Given the description of an element on the screen output the (x, y) to click on. 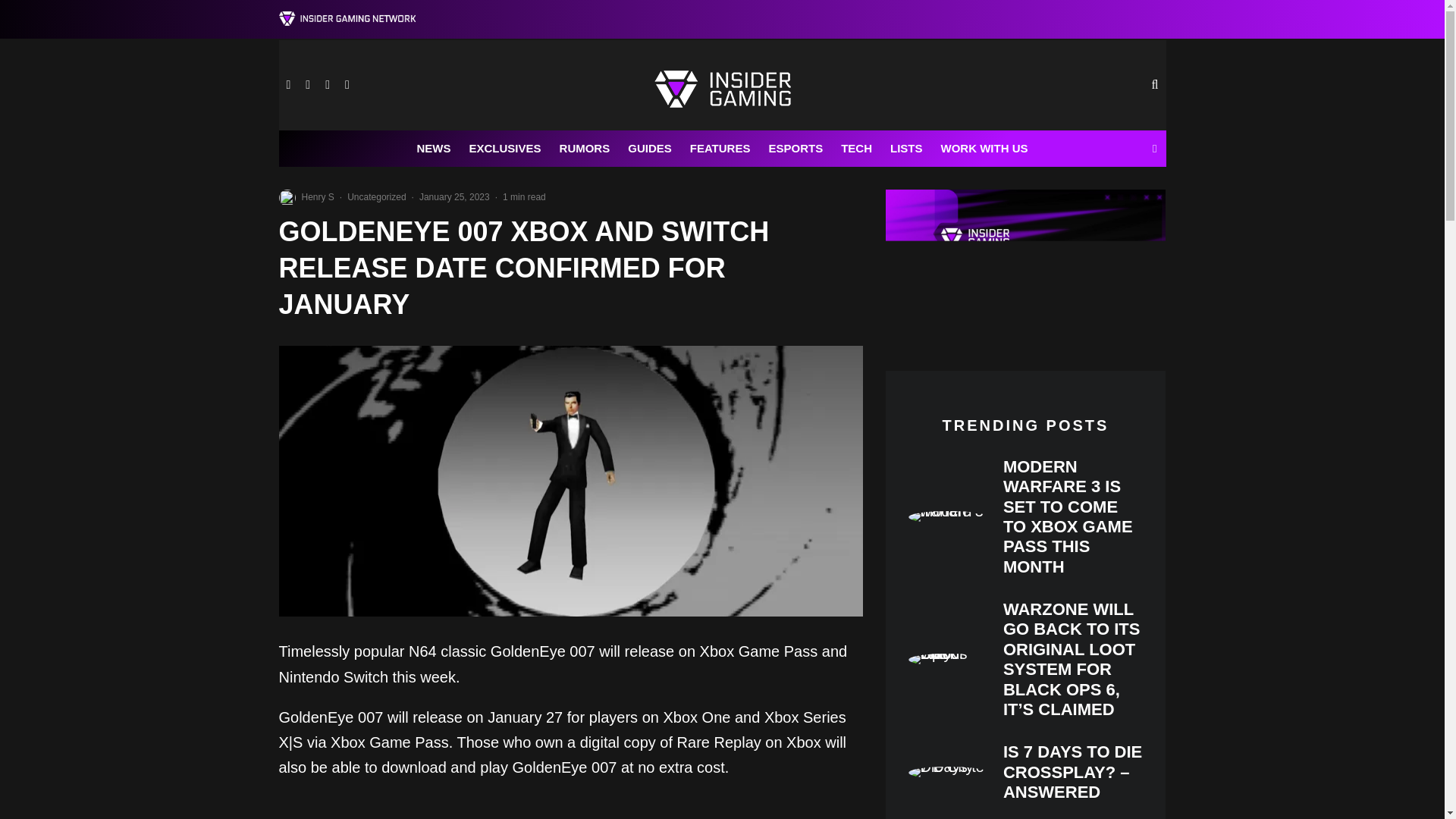
EXCLUSIVES (505, 148)
RUMORS (585, 148)
NEWS (433, 148)
